Given the description of an element on the screen output the (x, y) to click on. 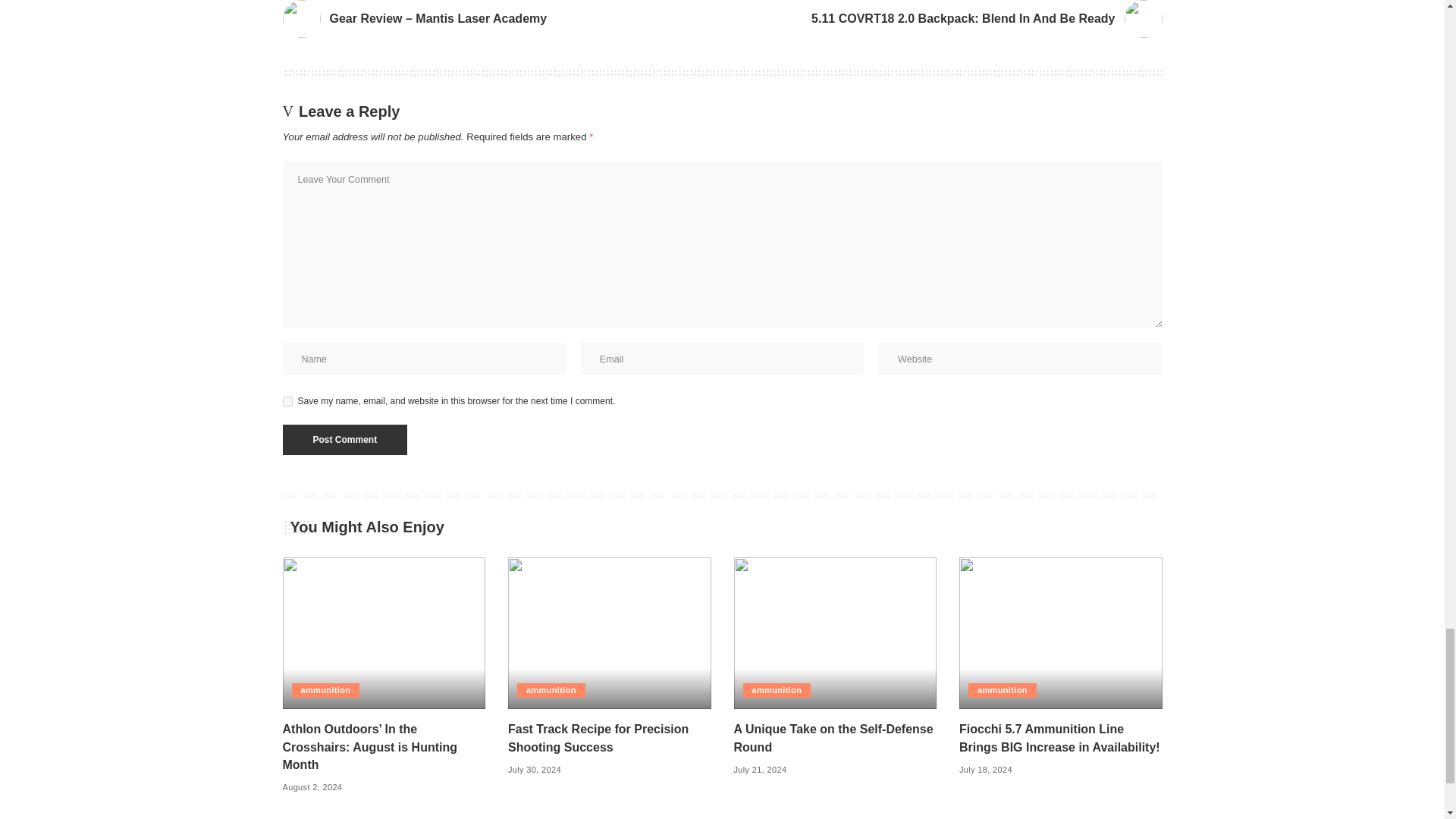
Post Comment (344, 440)
yes (287, 401)
